Given the description of an element on the screen output the (x, y) to click on. 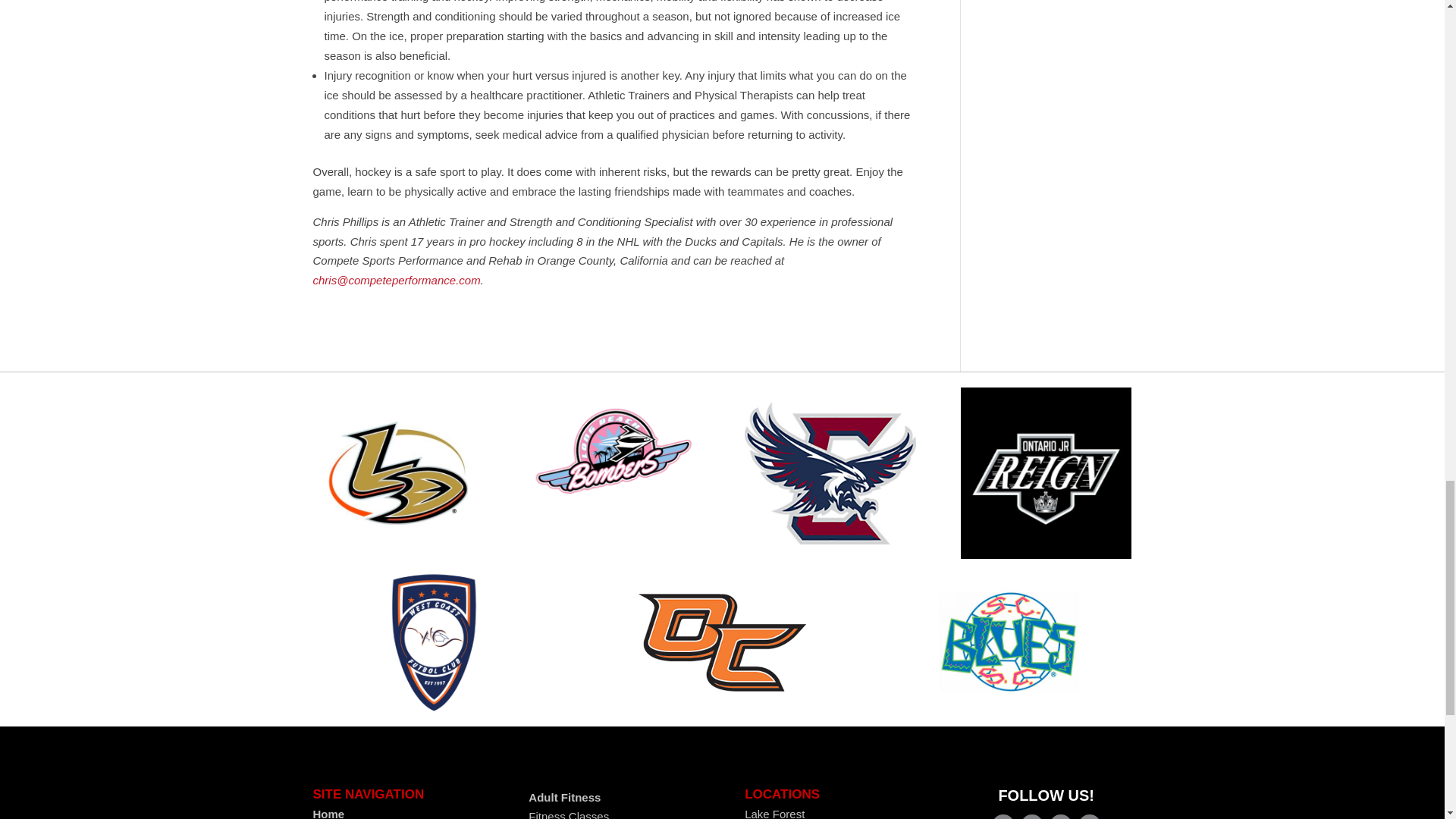
cvcs400x400 (829, 472)
Follow on Twitter (1031, 816)
Follow on Instagram (1089, 816)
Follow on Youtube (1060, 816)
sc-blues-logo (1010, 642)
lady-ducks-logo (398, 472)
Follow on Facebook (1002, 816)
ontario-jr-reign-logo (1045, 472)
west-coast-fc-logo (434, 642)
